Given the description of an element on the screen output the (x, y) to click on. 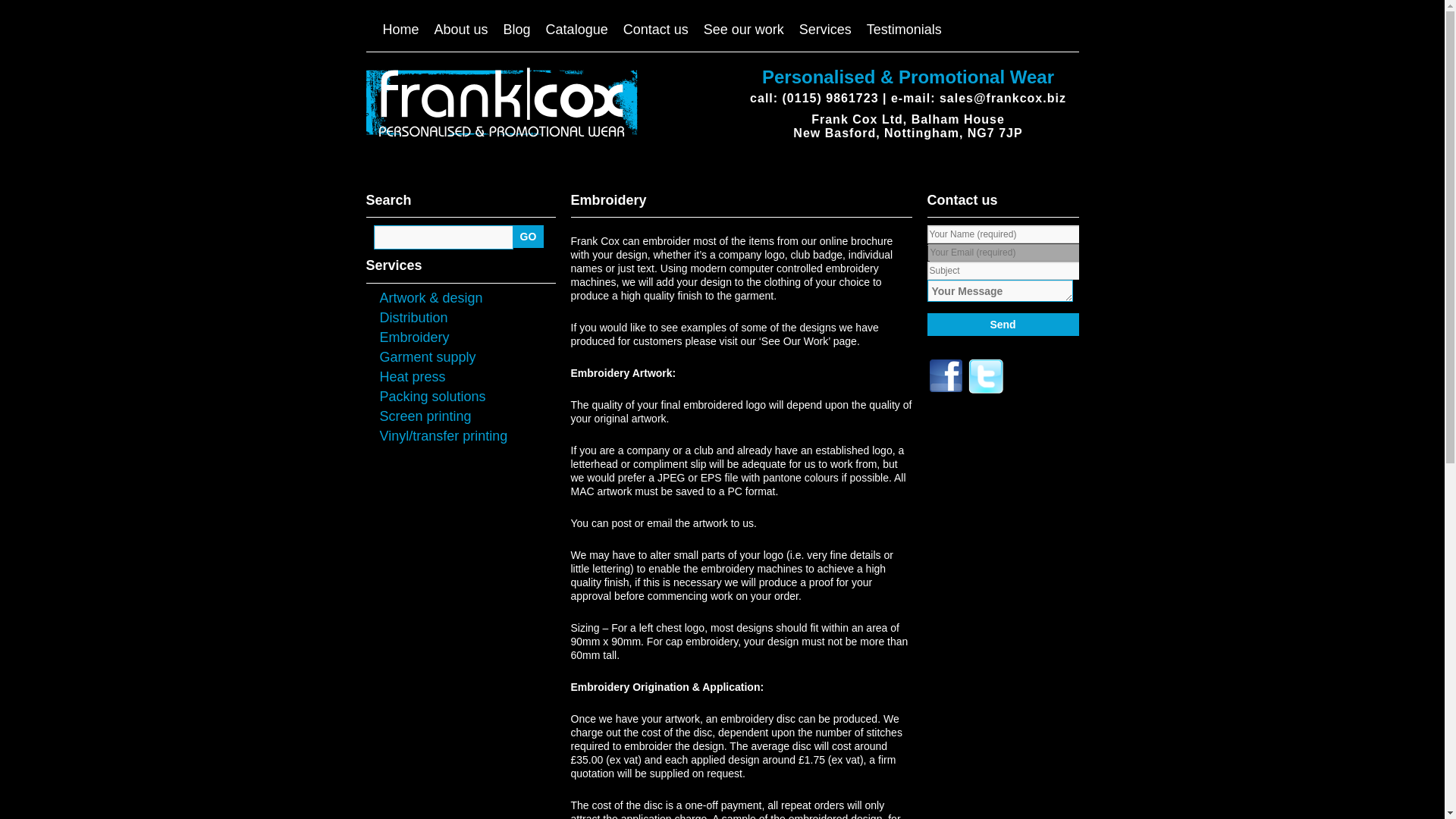
Garment supply (427, 356)
Send (1002, 323)
See our work (743, 29)
Blog (517, 29)
About us (461, 29)
Heat press (411, 376)
Packing solutions (431, 396)
GO (527, 236)
Send (1002, 323)
Distribution (412, 317)
